Given the description of an element on the screen output the (x, y) to click on. 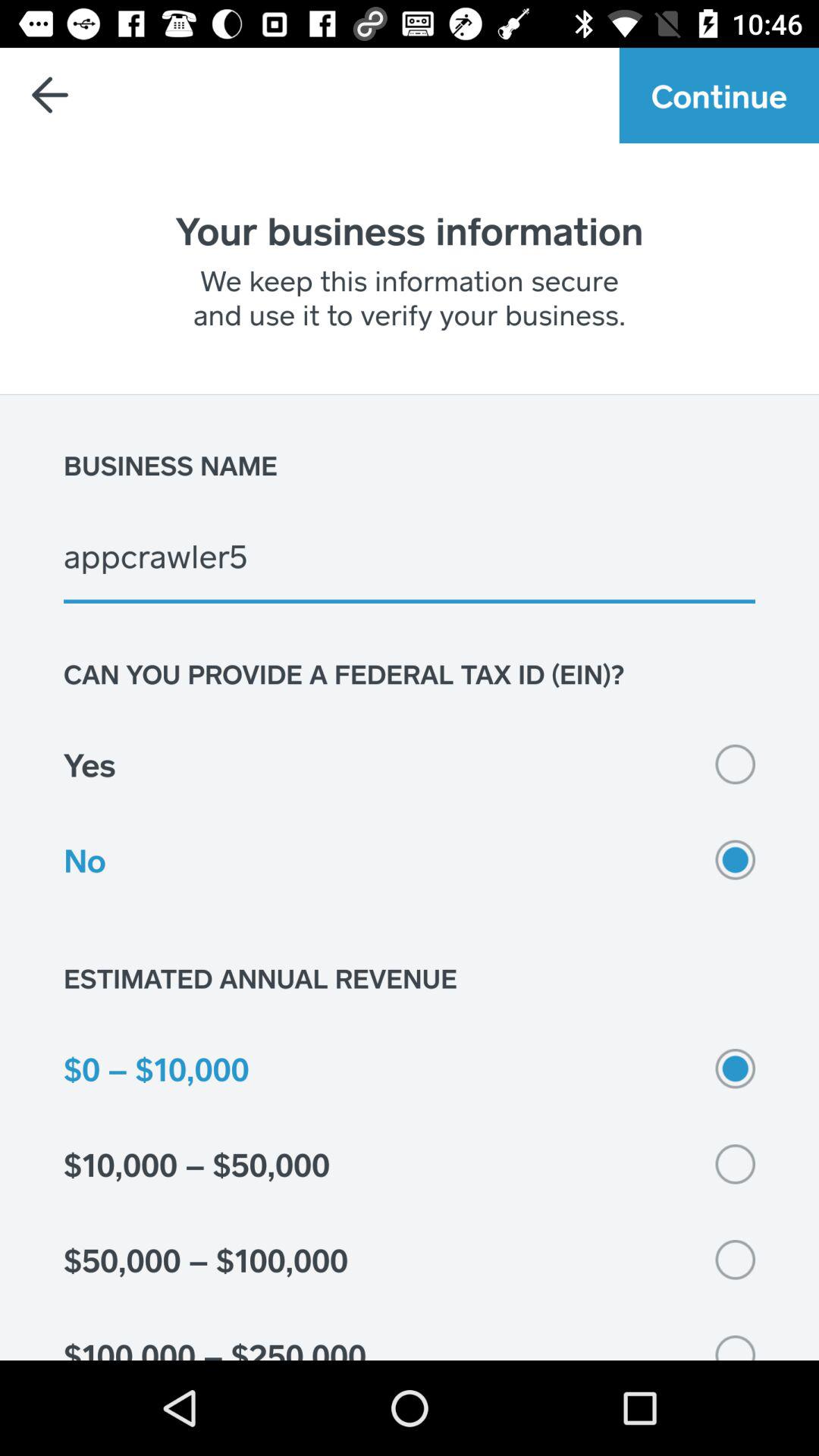
open continue (719, 95)
